Given the description of an element on the screen output the (x, y) to click on. 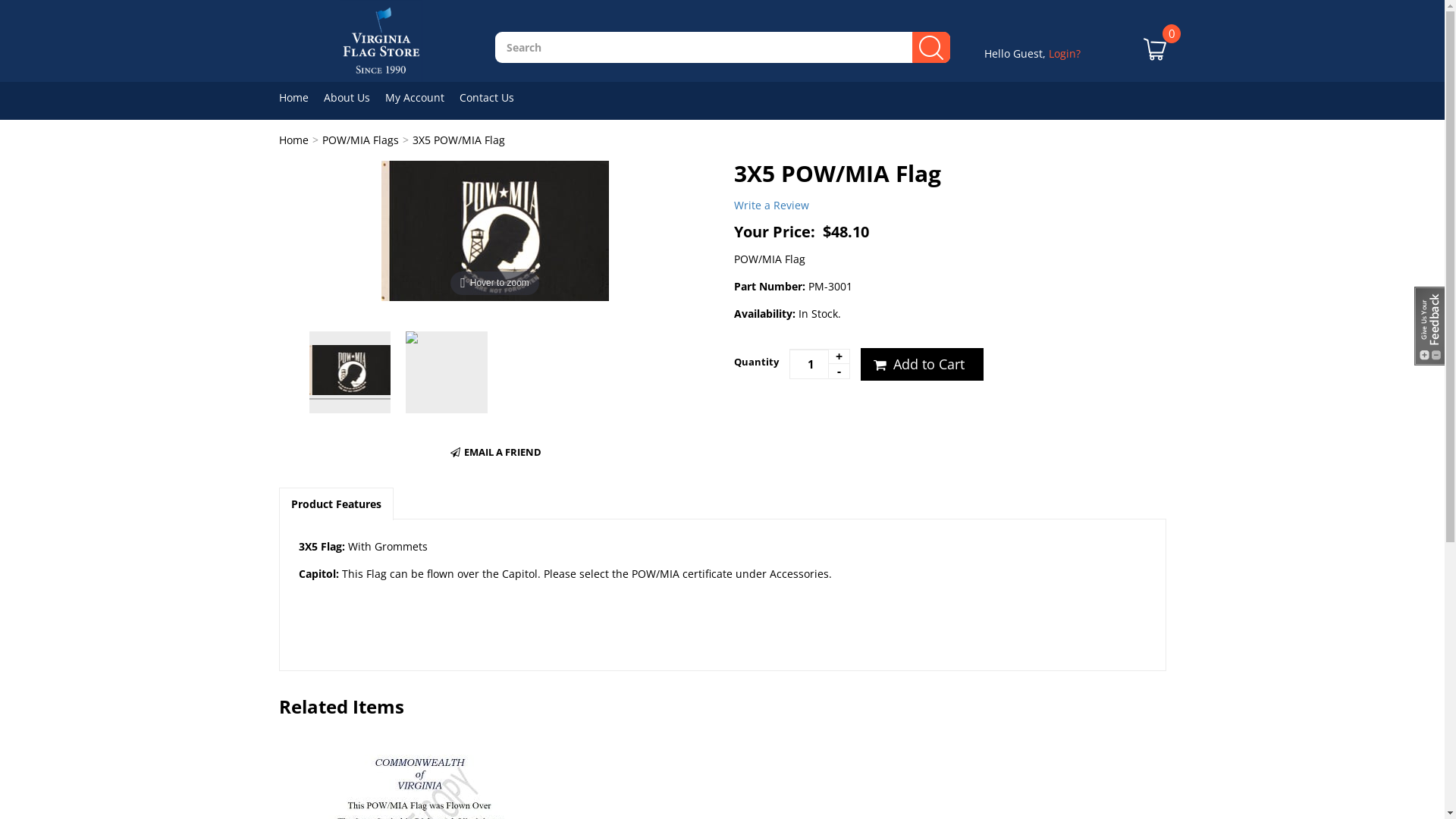
EMAIL A FRIEND Element type: text (494, 452)
My Account Element type: text (422, 96)
3X5 POW/MIA Flag Element type: text (458, 139)
Product Features Element type: text (335, 503)
About Us Element type: text (353, 96)
Write a Review Element type: text (771, 204)
0 Element type: text (1154, 59)
Thumbnail Element type: text (446, 372)
Thumbnail Element type: text (350, 372)
Feedback Element type: hover (1429, 325)
Zoom in on Image(s)
Hover to zoom Element type: text (494, 229)
Submit Element type: text (732, 379)
Login? Element type: text (1063, 53)
Add to Cart Element type: text (920, 364)
Home Element type: text (293, 139)
Home Element type: text (301, 96)
- Element type: text (838, 371)
+ Element type: text (838, 356)
POW/MIA Flags Element type: text (359, 139)
Contact Us Element type: text (494, 96)
